Given the description of an element on the screen output the (x, y) to click on. 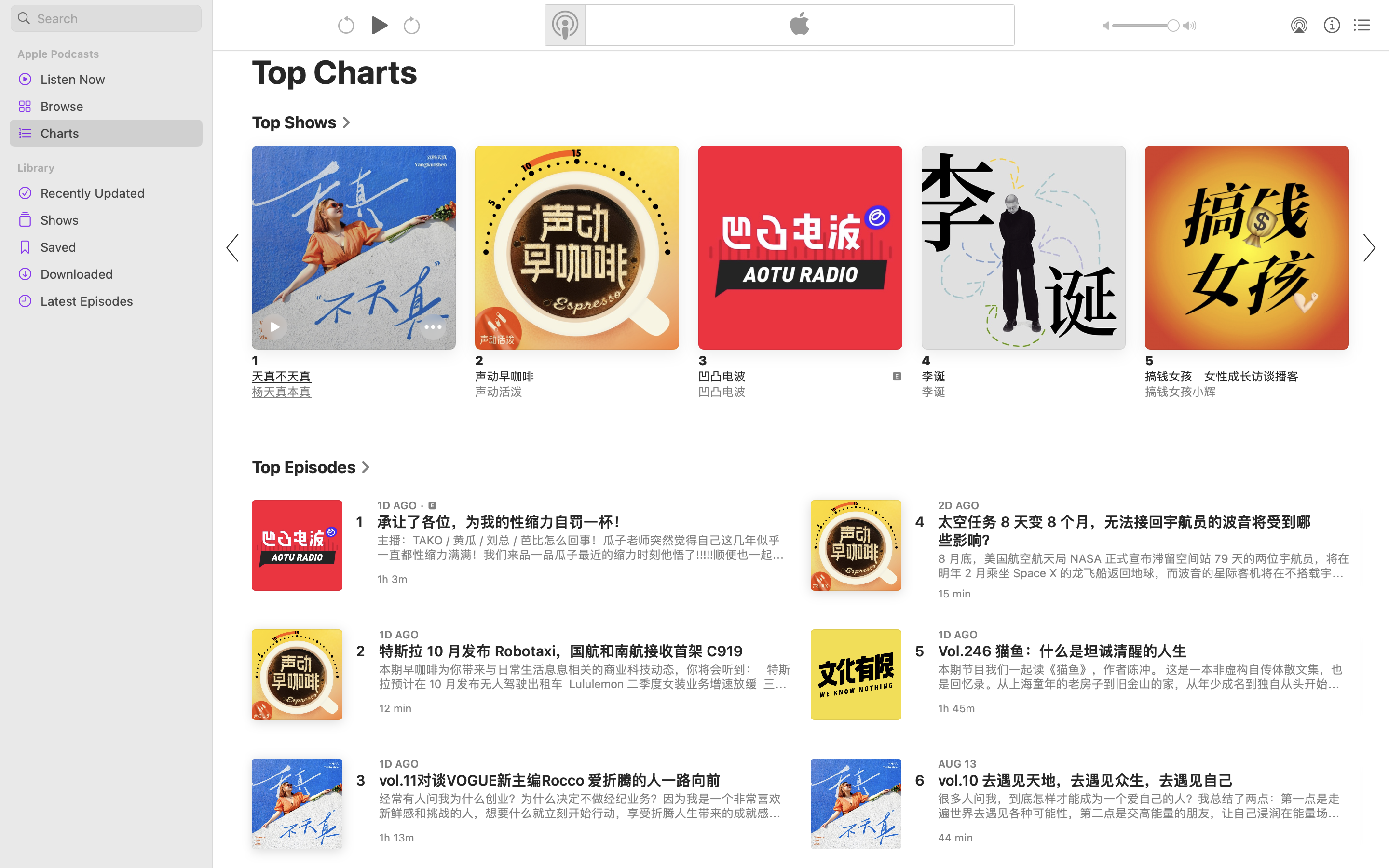
1.0 Element type: AXSlider (1145, 25)
